Given the description of an element on the screen output the (x, y) to click on. 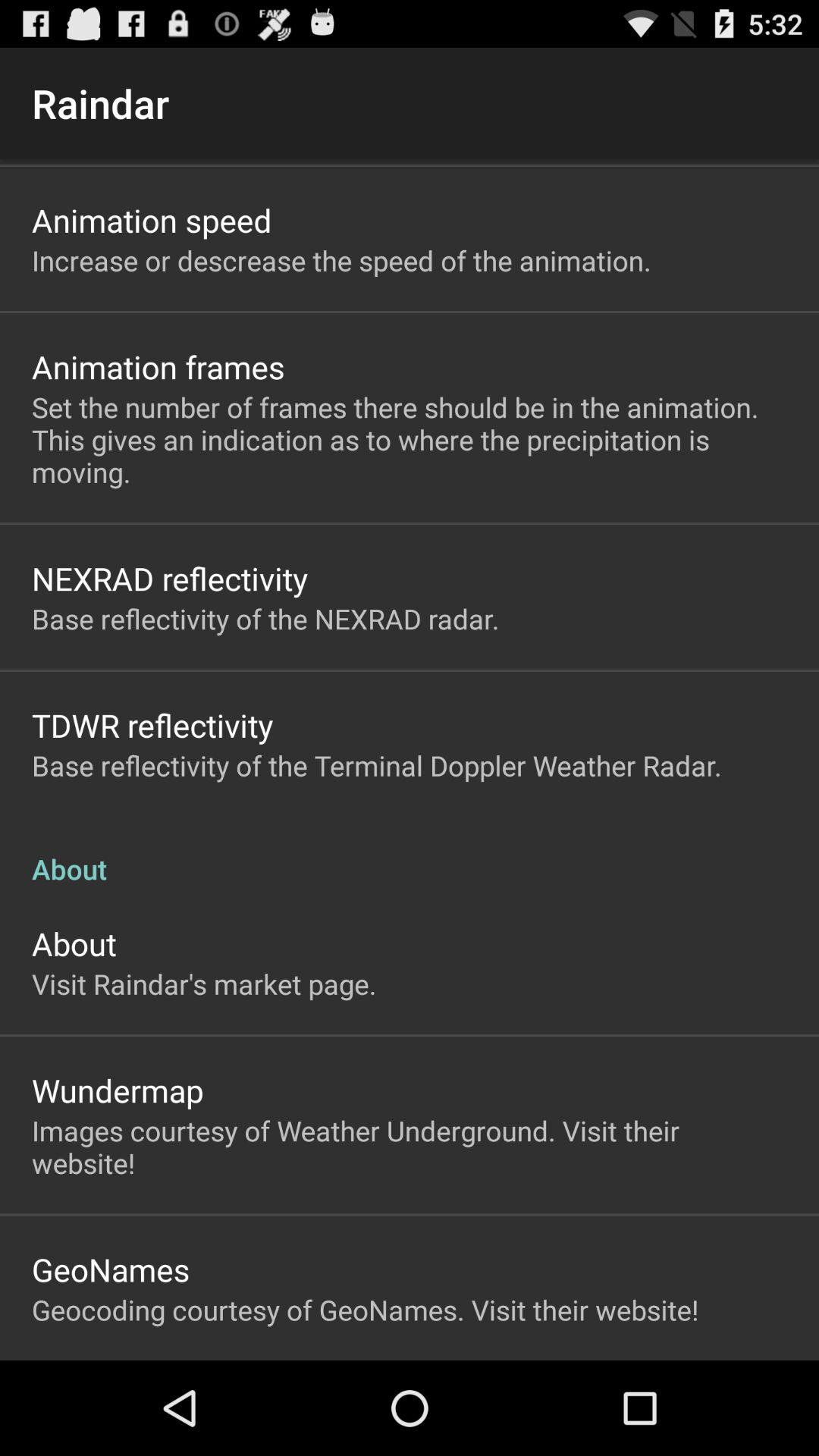
swipe to visit raindar s item (203, 983)
